Given the description of an element on the screen output the (x, y) to click on. 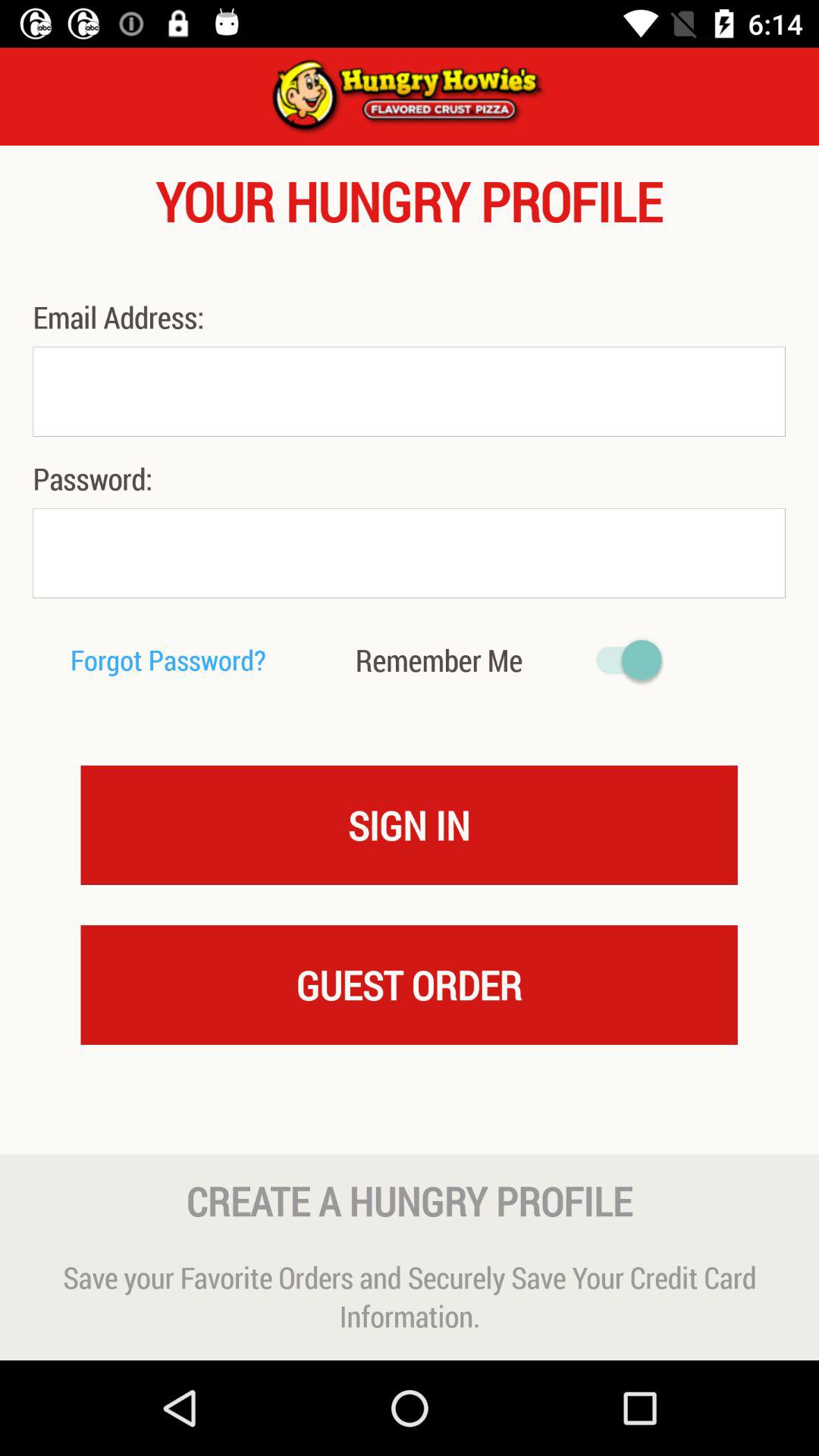
turn on the icon on the left (167, 659)
